Given the description of an element on the screen output the (x, y) to click on. 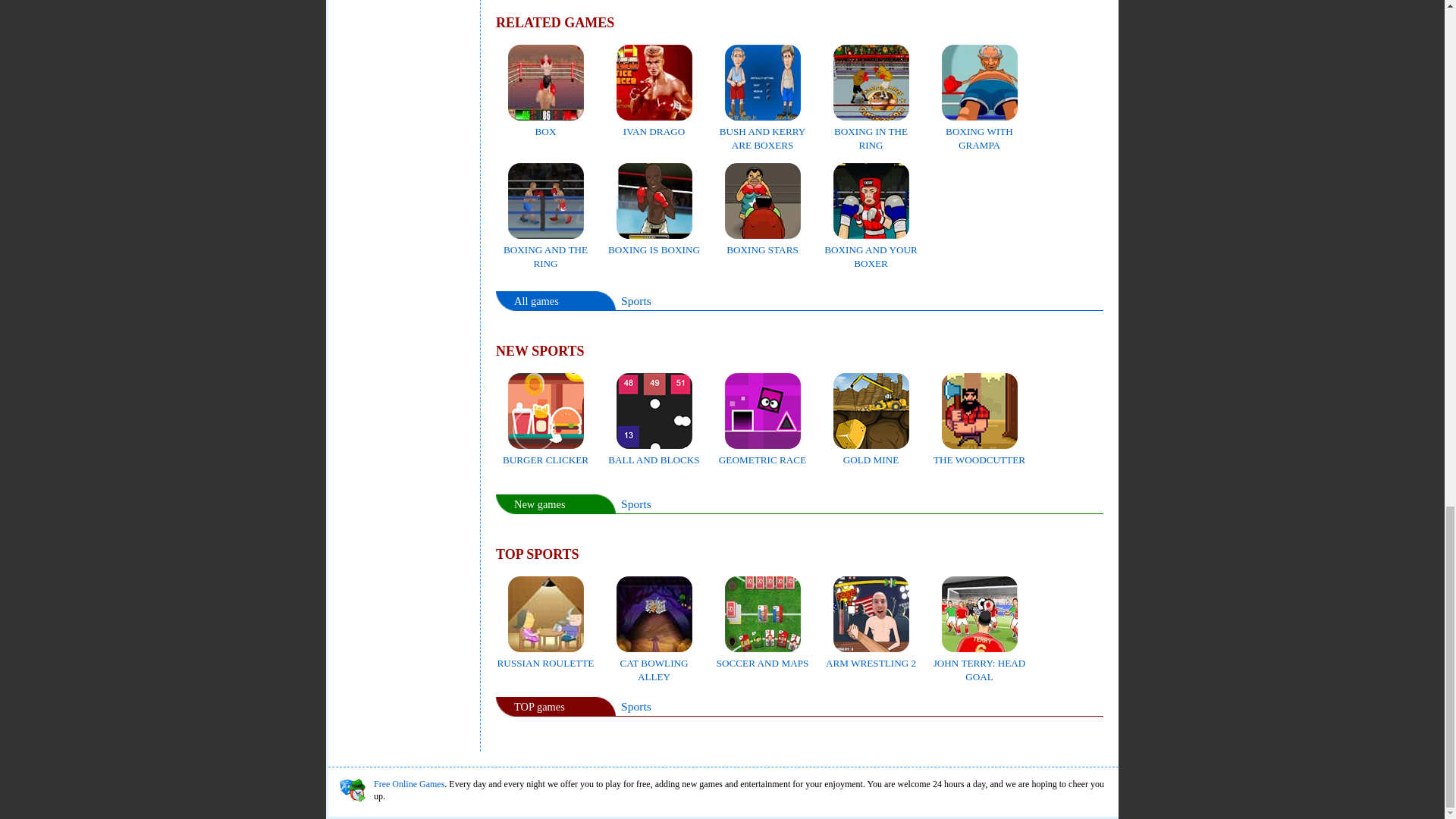
GEOMETRIC RACE (762, 453)
BOXING AND THE RING (545, 249)
Sports (635, 706)
BOXING IN THE RING (870, 131)
BUSH AND KERRY ARE BOXERS (762, 131)
BOXING WITH GRAMPA (979, 131)
BOXING IS BOXING (654, 242)
BUSH AND KERRY ARE BOXERS (762, 131)
BOXING STARS (762, 242)
All Sports (635, 300)
TOP games (538, 706)
BOXING AND YOUR BOXER (870, 249)
CAT BOWLING ALLEY (653, 662)
GOLD MINE (870, 453)
BOXING IN THE RING (870, 131)
